Given the description of an element on the screen output the (x, y) to click on. 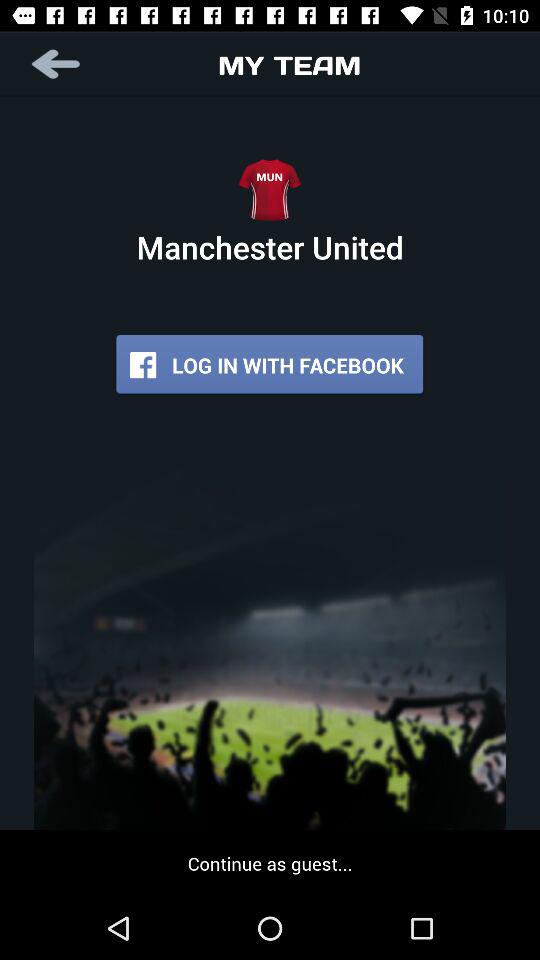
open icon below log in with (270, 863)
